Given the description of an element on the screen output the (x, y) to click on. 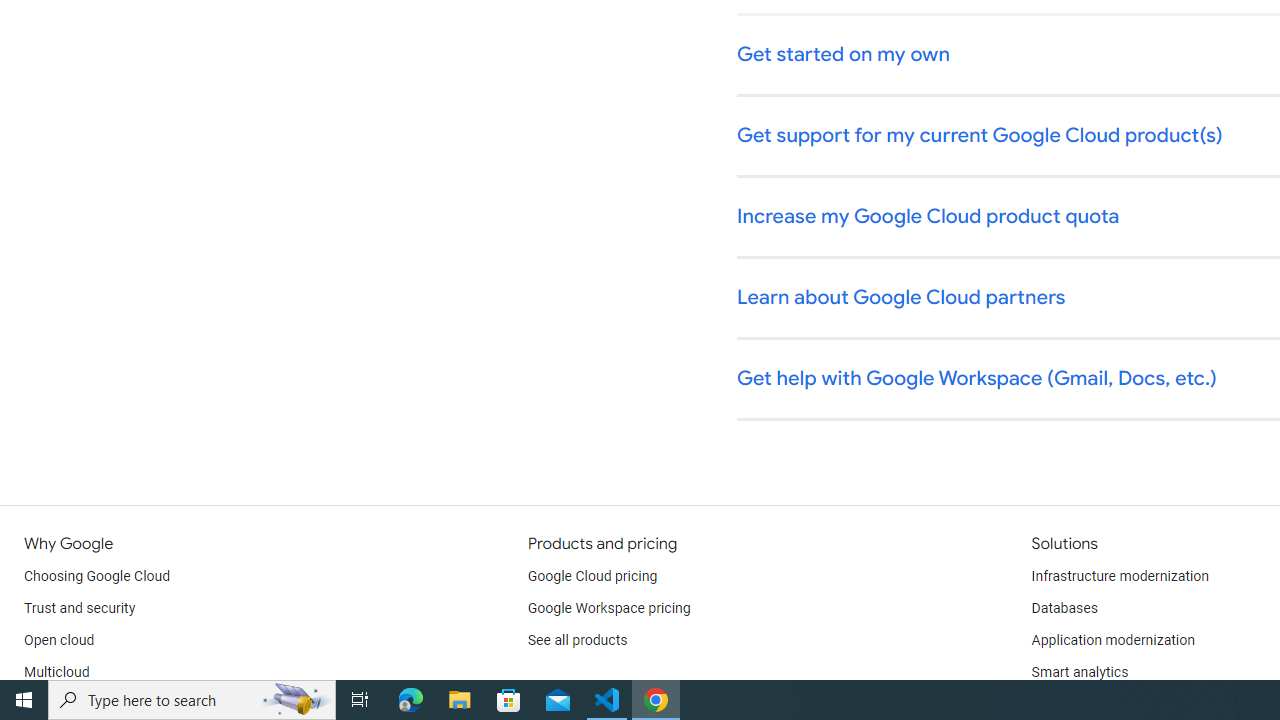
Google Workspace pricing (609, 608)
Google Cloud pricing (592, 576)
Multicloud (56, 672)
Choosing Google Cloud (97, 576)
Open cloud (59, 640)
Trust and security (79, 608)
Infrastructure modernization (1119, 576)
Smart analytics (1079, 672)
Application modernization (1112, 640)
Databases (1064, 608)
See all products (577, 640)
